Given the description of an element on the screen output the (x, y) to click on. 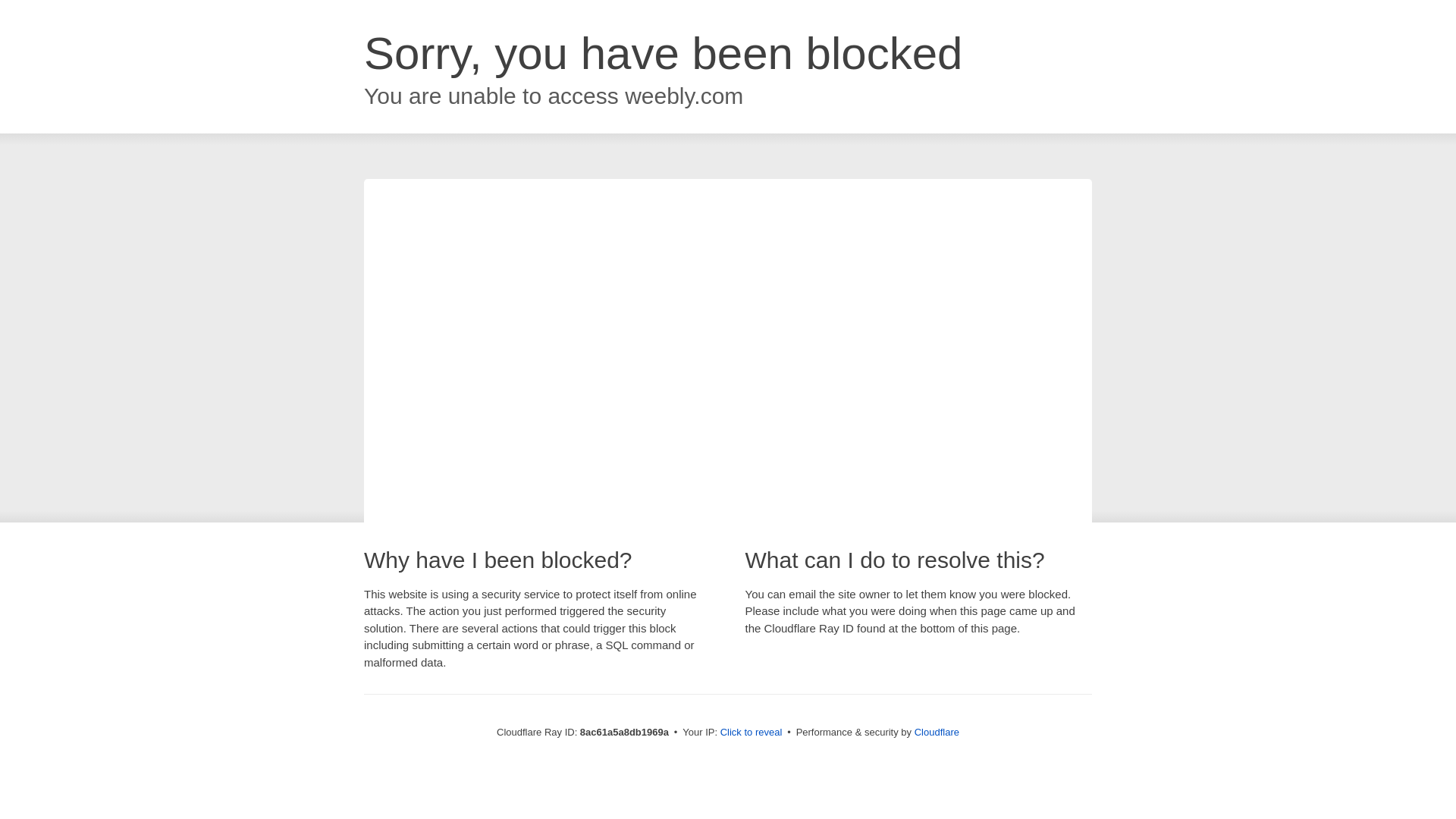
Cloudflare (936, 731)
Click to reveal (751, 732)
